Given the description of an element on the screen output the (x, y) to click on. 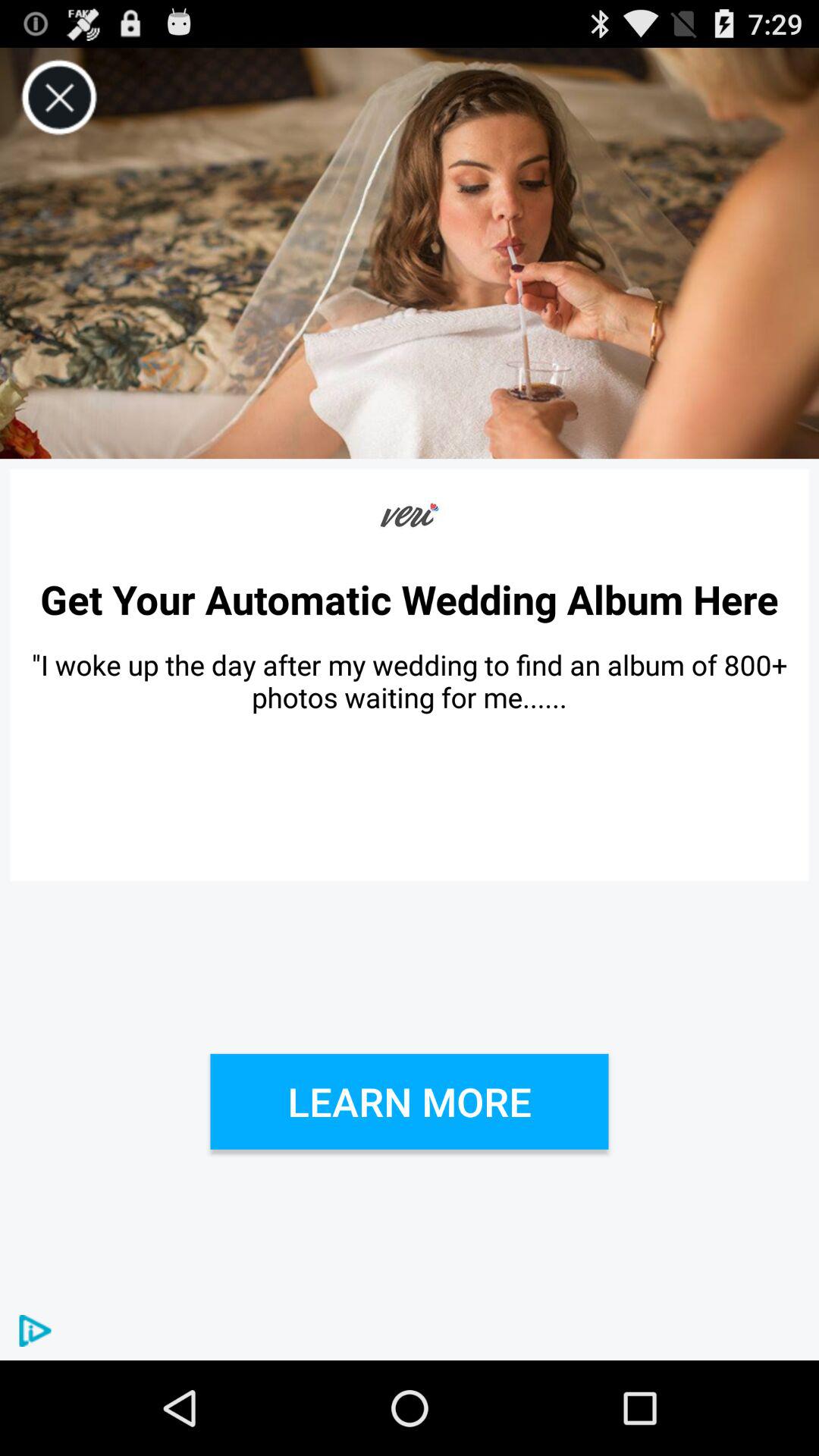
click on the image (409, 252)
